Given the description of an element on the screen output the (x, y) to click on. 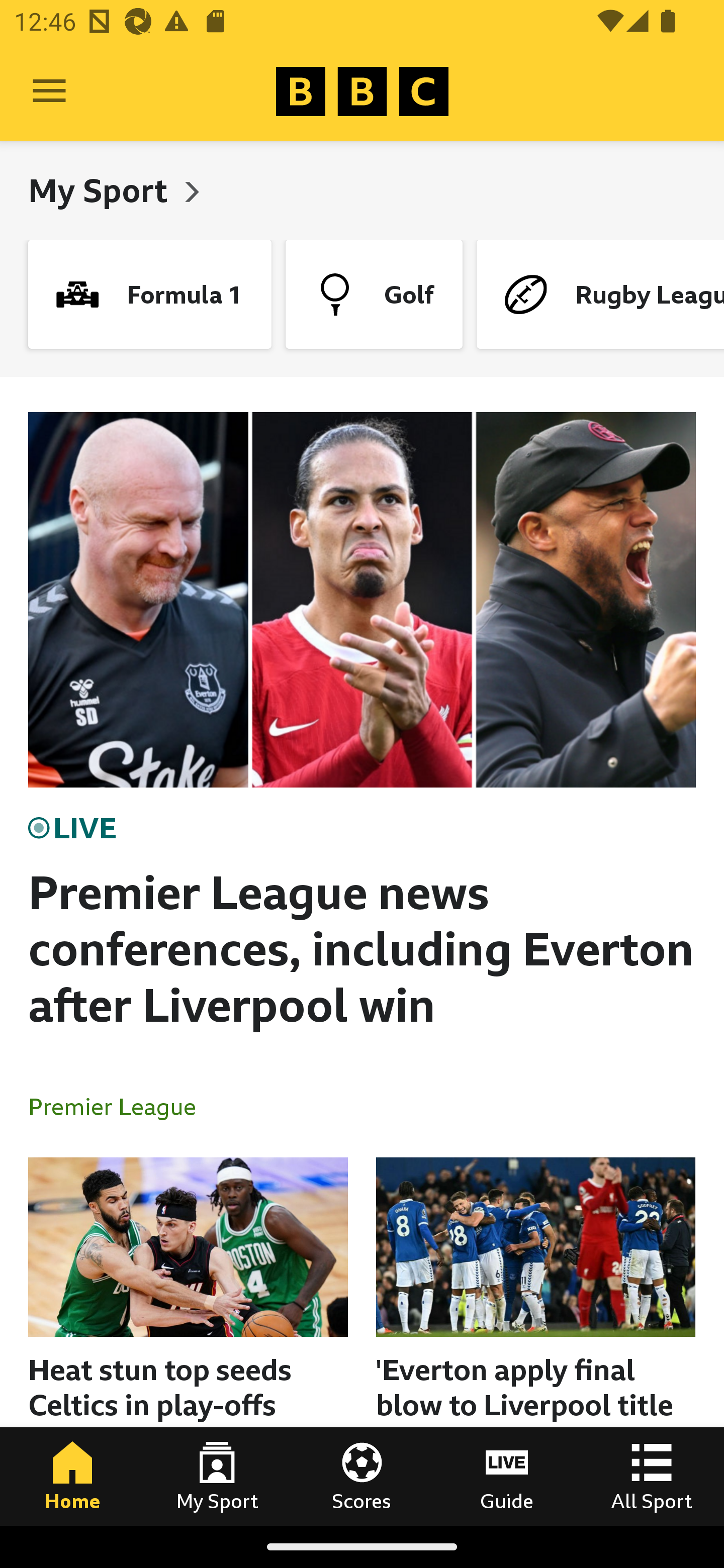
Open Menu (49, 91)
My Sport (101, 190)
Premier League In the section Premier League (119, 1106)
My Sport (216, 1475)
Scores (361, 1475)
Guide (506, 1475)
All Sport (651, 1475)
